Given the description of an element on the screen output the (x, y) to click on. 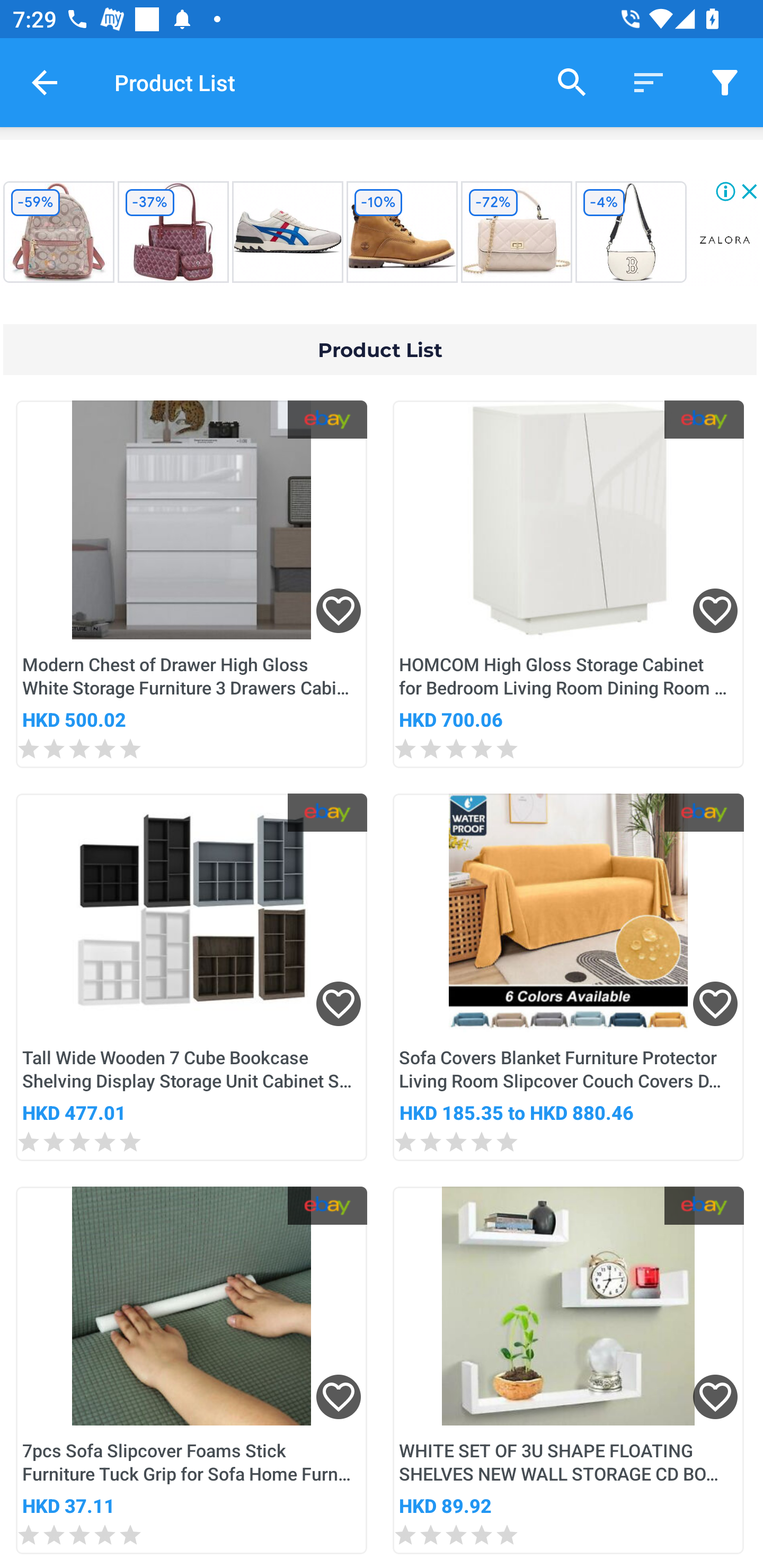
Navigate up (44, 82)
Search (572, 81)
short (648, 81)
short (724, 81)
-59% (58, 231)
-37% (173, 231)
-10% (401, 231)
-72% (516, 231)
-4% (630, 231)
